Given the description of an element on the screen output the (x, y) to click on. 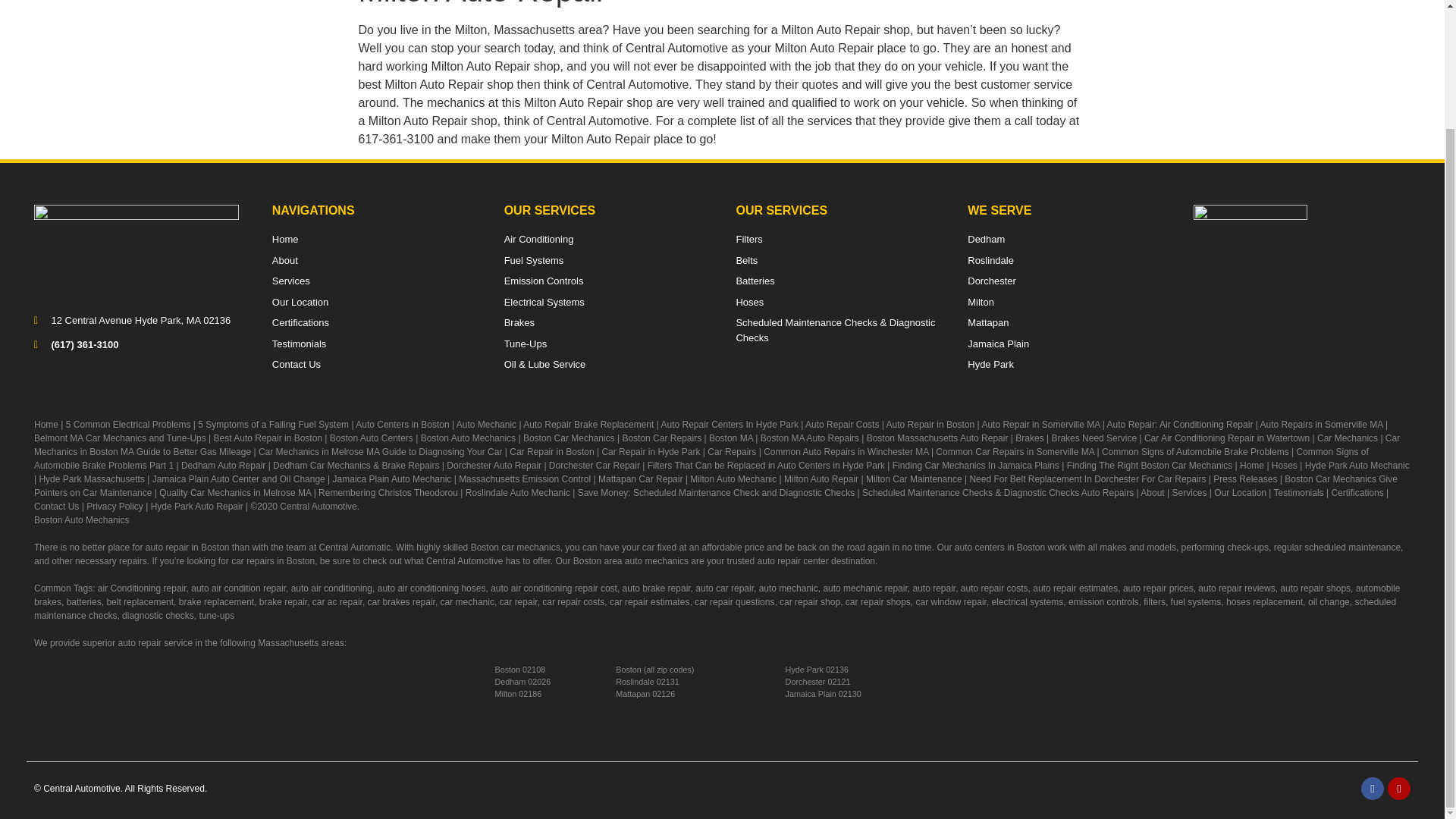
Services (374, 281)
About (374, 260)
Home (374, 239)
Our Location (374, 302)
Contact Us (374, 364)
Testimonials (374, 344)
Air Conditioning (606, 239)
Certifications (374, 322)
